Given the description of an element on the screen output the (x, y) to click on. 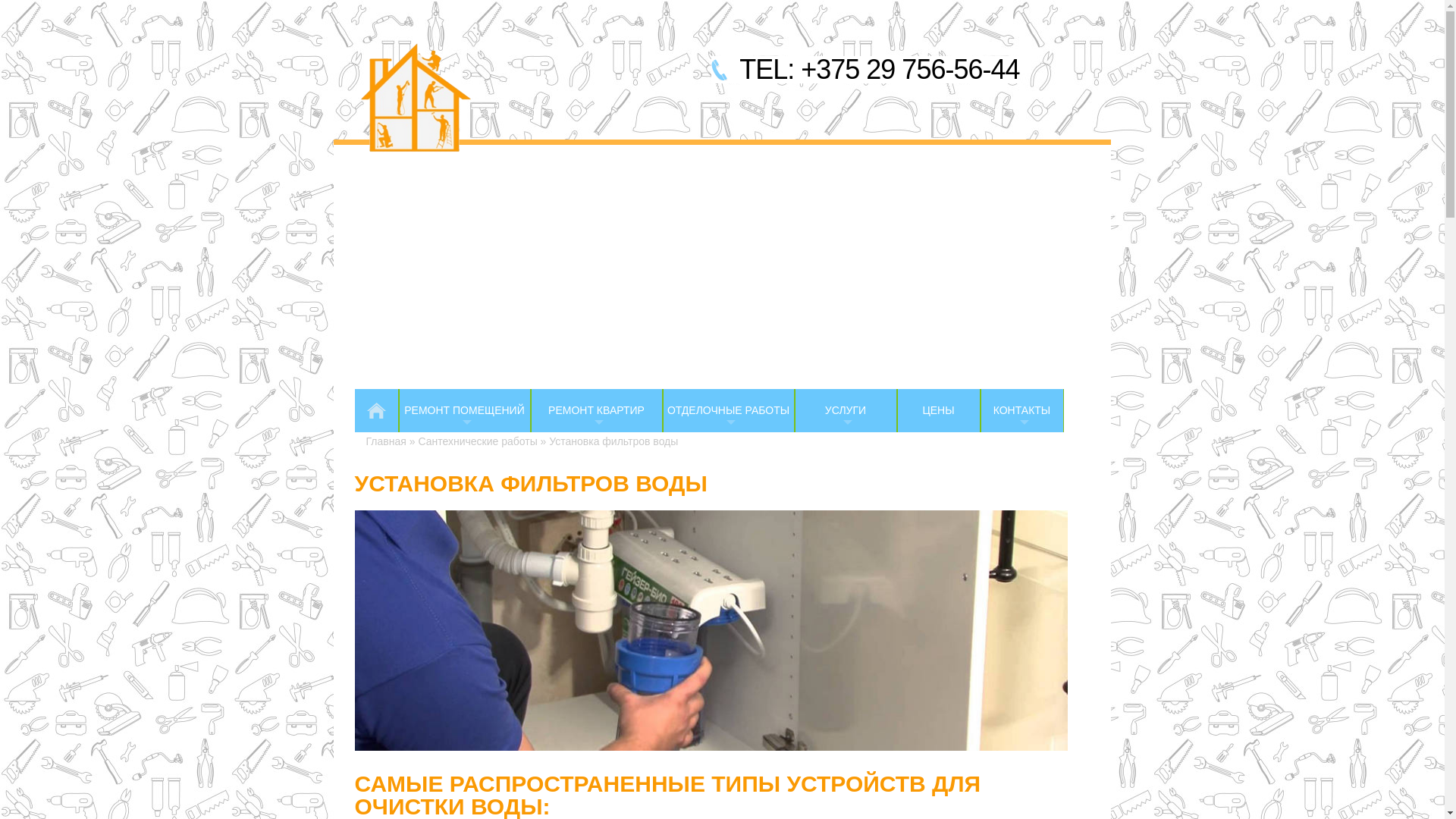
Advertisement Element type: hover (721, 275)
